Given the description of an element on the screen output the (x, y) to click on. 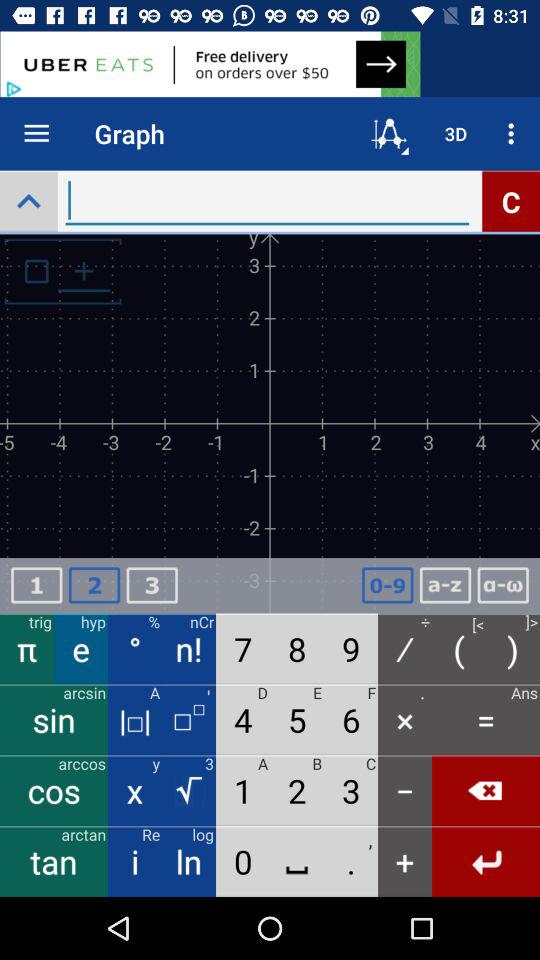
go to up arrow (28, 200)
